Given the description of an element on the screen output the (x, y) to click on. 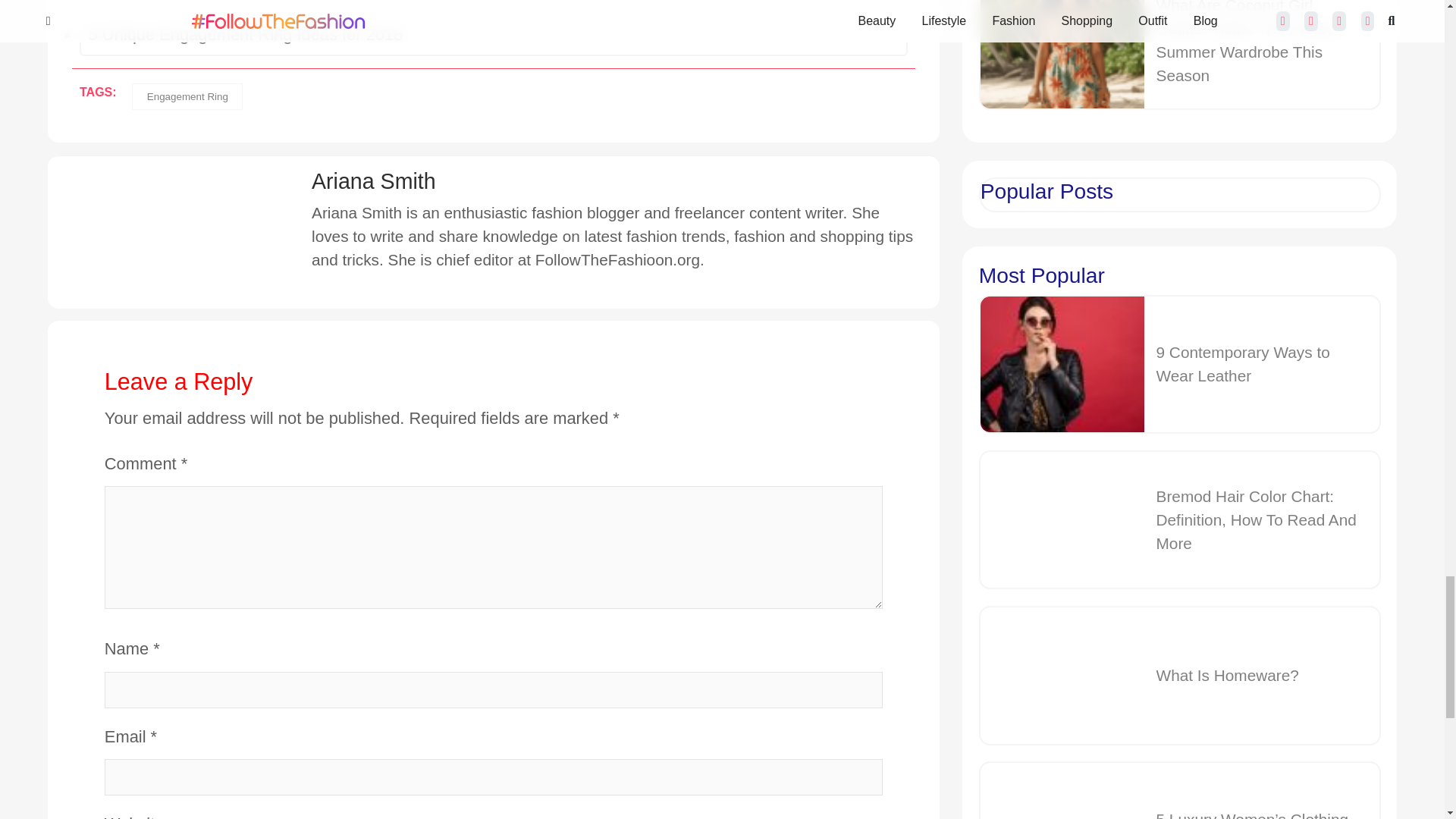
Ariana Smith (461, 181)
Engagement Ring (187, 96)
FollowTheFashioon.org (617, 259)
5 Unique Engagement Ring Ideas for 2018 (493, 34)
